Given the description of an element on the screen output the (x, y) to click on. 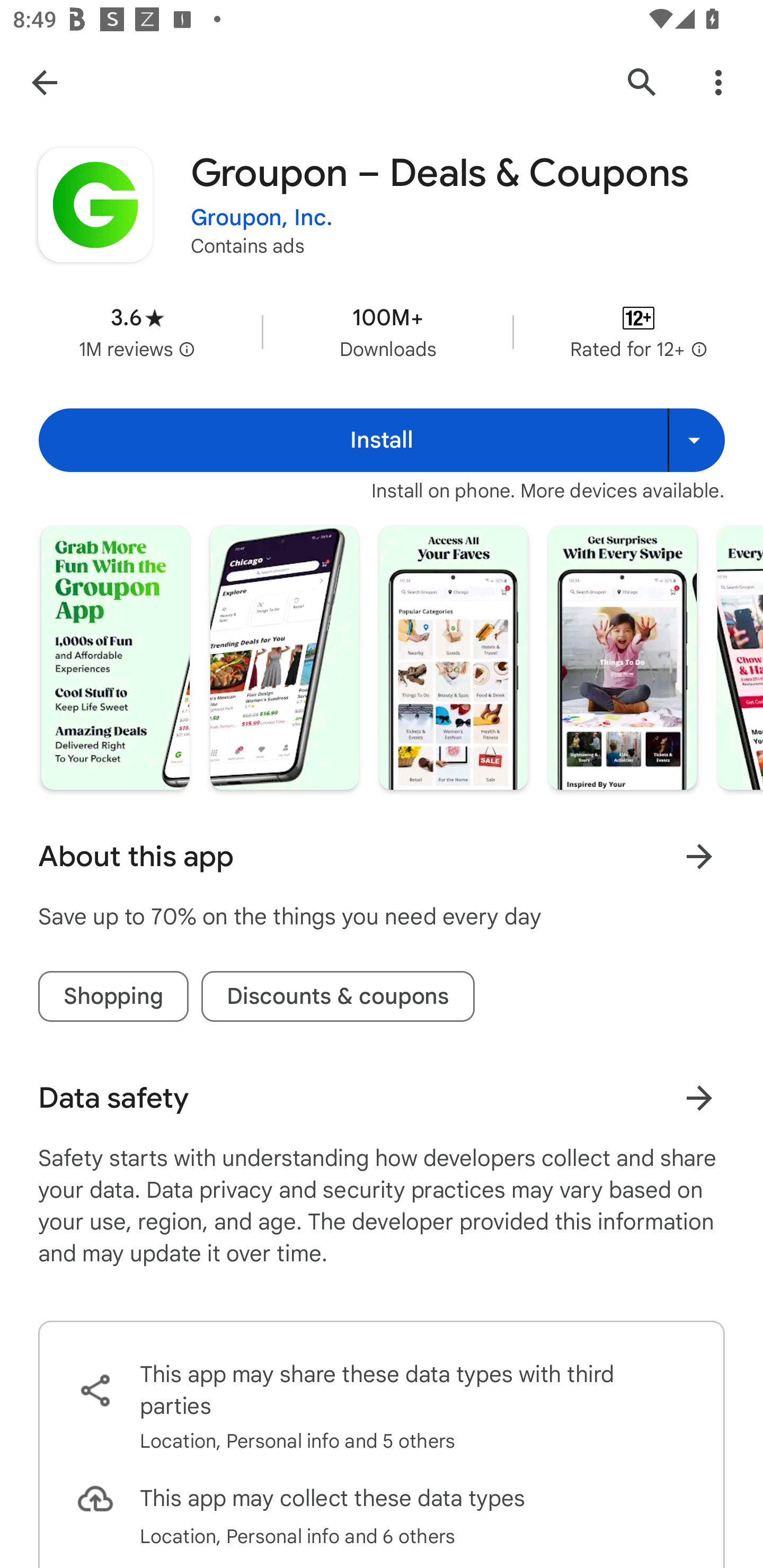
Navigate up (44, 81)
Search Google Play (642, 81)
More Options (718, 81)
Groupon, Inc. (261, 217)
Average rating 3.6 stars in 1 million reviews (137, 331)
Content rating Rated for 12+ (638, 331)
Install Install Install on more devices (381, 439)
Install on more devices (695, 439)
Screenshot "1" of "8" (115, 657)
Screenshot "2" of "8" (284, 657)
Screenshot "3" of "8" (453, 657)
Screenshot "4" of "8" (622, 657)
About this app Learn more About this app (381, 856)
Learn more About this app (699, 856)
Shopping tag (113, 996)
Discounts & coupons tag (337, 996)
Data safety Learn more about data safety (381, 1098)
Learn more about data safety (699, 1097)
